Given the description of an element on the screen output the (x, y) to click on. 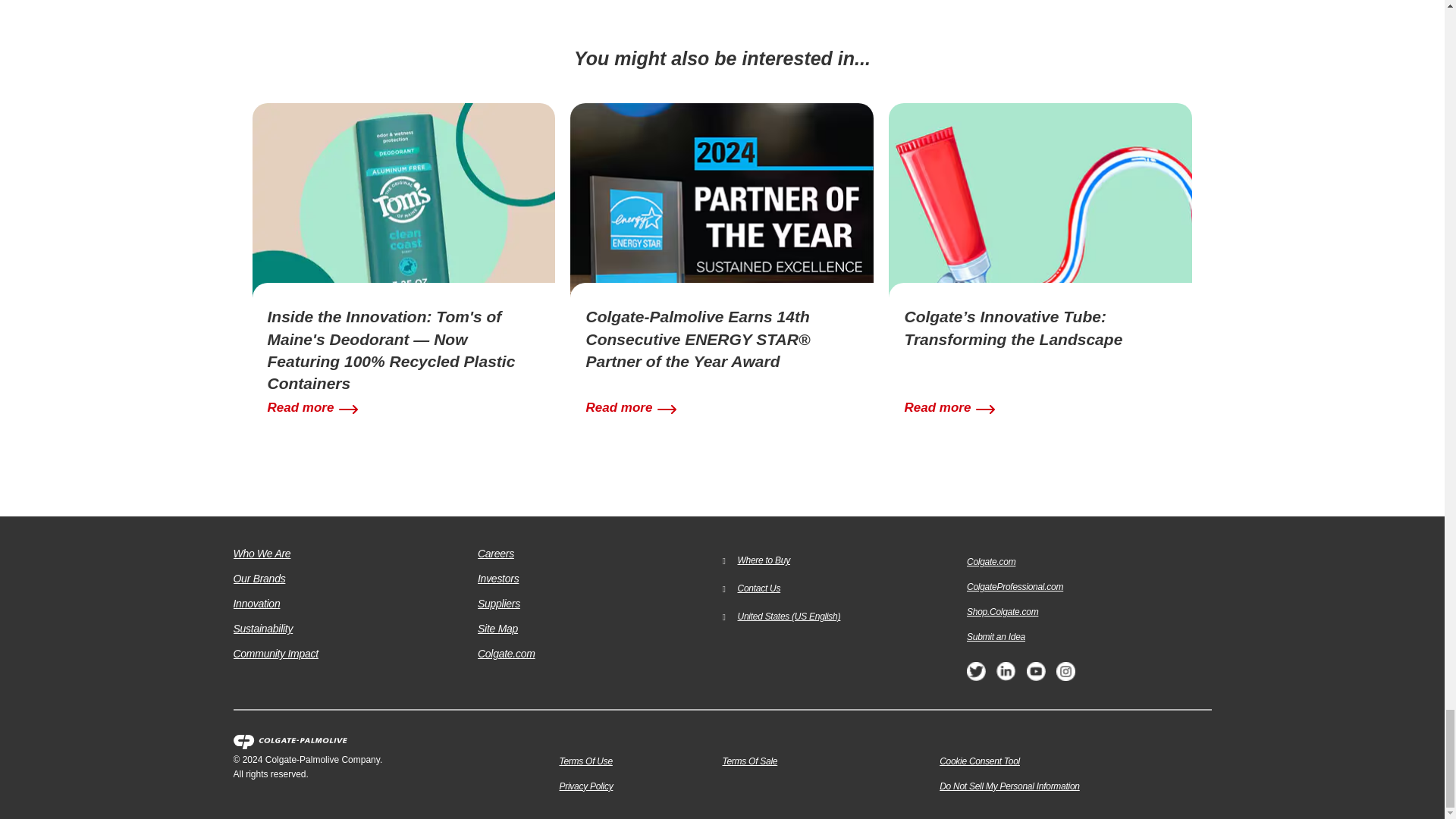
Instagram (1066, 676)
YouTube (1035, 676)
Colgate Palmolive home page (395, 741)
twitter (975, 676)
linkedin (1004, 676)
